Given the description of an element on the screen output the (x, y) to click on. 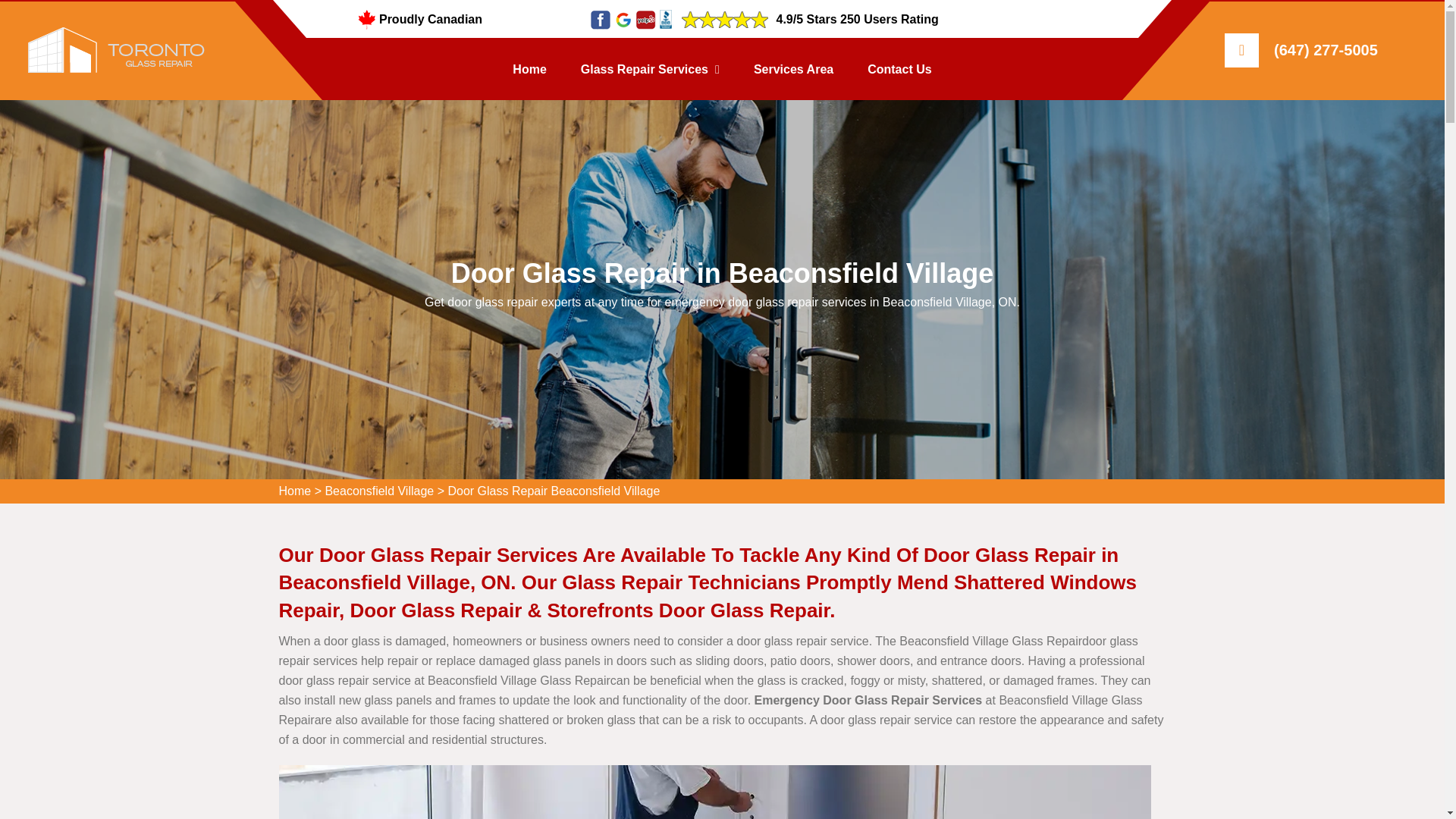
Glass Repair Services (649, 69)
Home (529, 69)
